Given the description of an element on the screen output the (x, y) to click on. 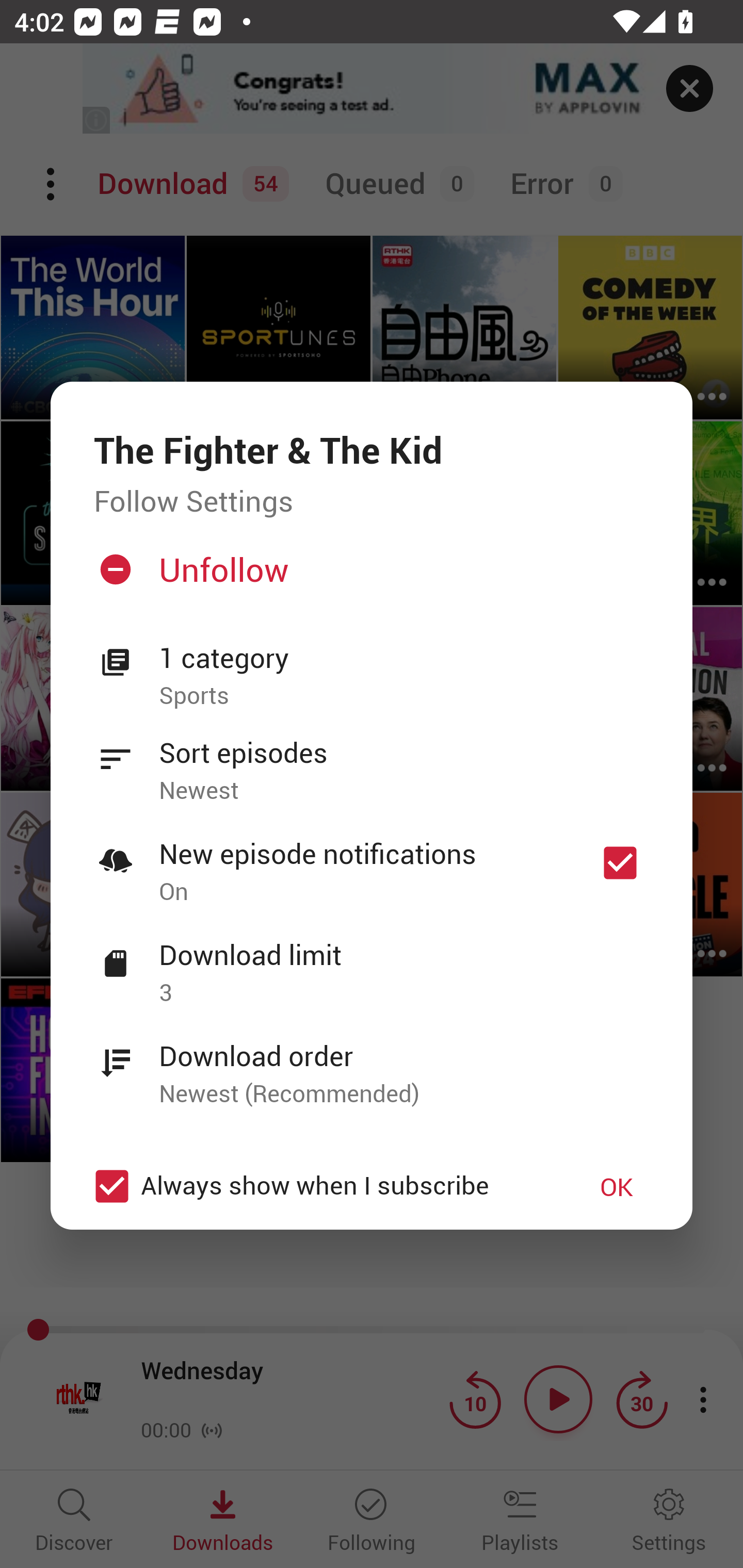
Unfollow (369, 576)
1 category (404, 658)
Sports (404, 696)
Sort episodes Newest (371, 760)
New episode notifications (620, 863)
Download limit 3 (371, 962)
Download order Newest (Recommended) (371, 1063)
OK (616, 1186)
Always show when I subscribe (320, 1186)
